Given the description of an element on the screen output the (x, y) to click on. 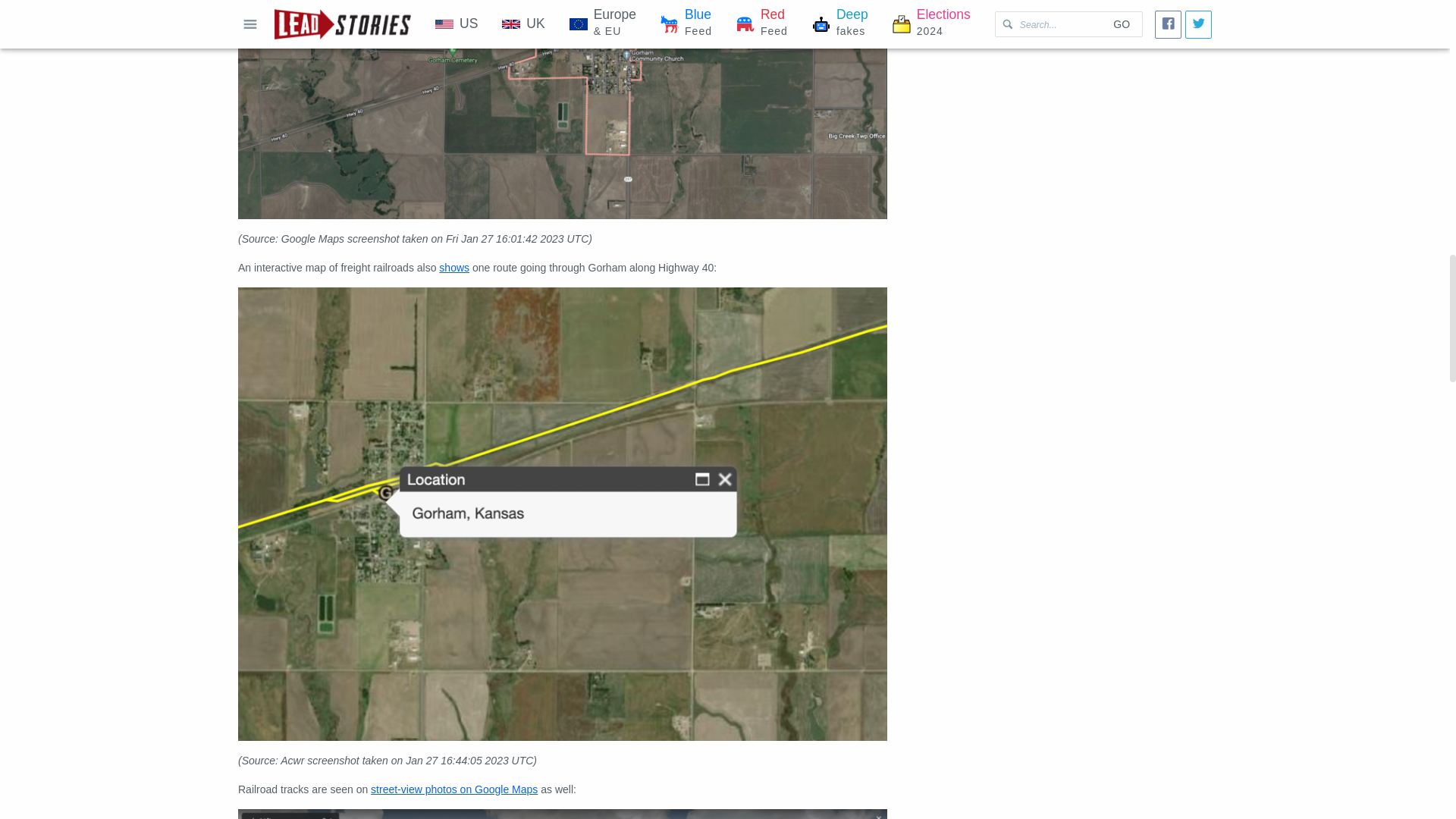
shows (453, 267)
street-view photos on Google Maps (454, 788)
